Given the description of an element on the screen output the (x, y) to click on. 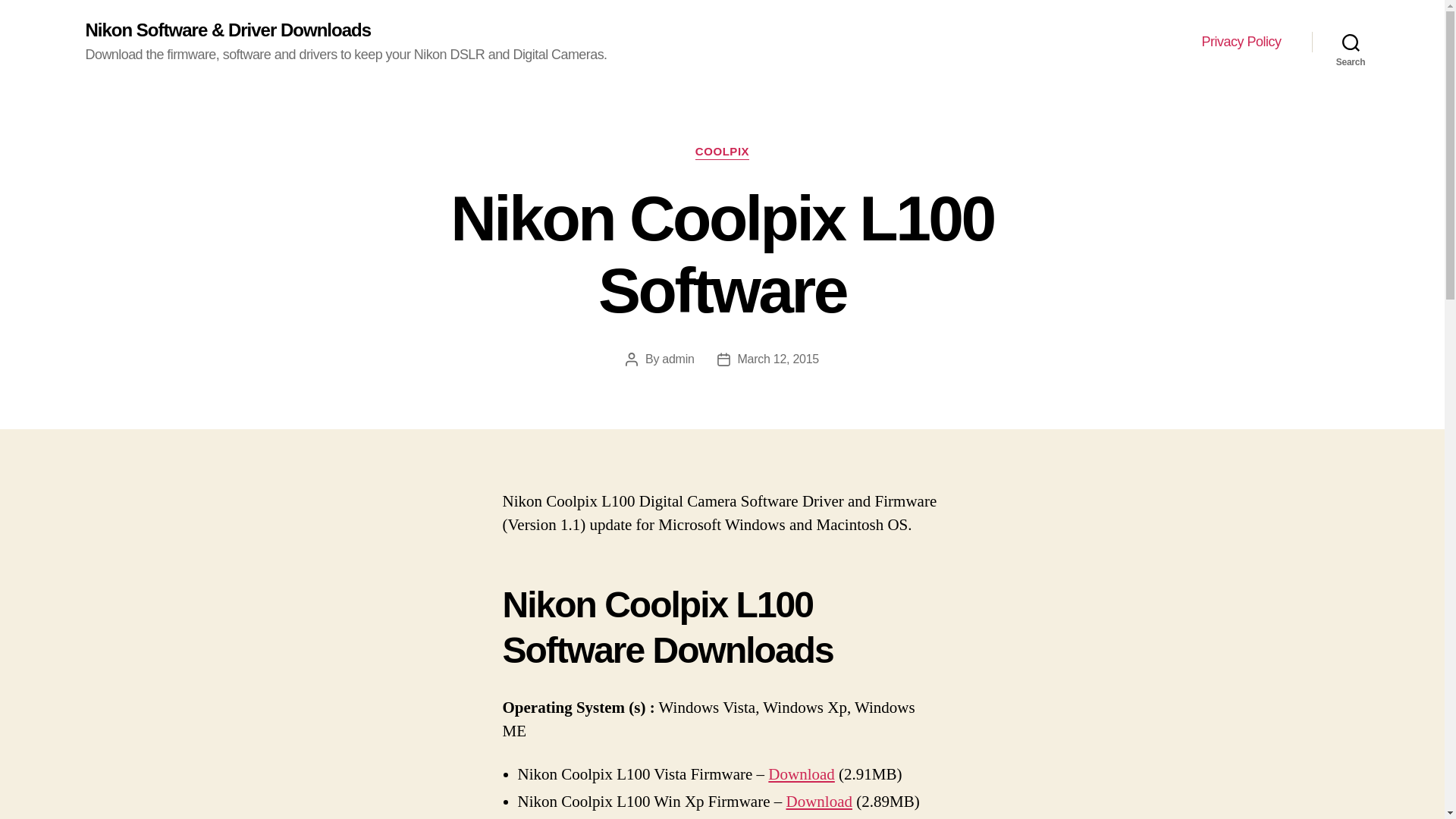
March 12, 2015 (778, 358)
admin (678, 358)
COOLPIX (722, 151)
Search (1350, 41)
Privacy Policy (1241, 42)
Download (801, 773)
Download (818, 801)
